Given the description of an element on the screen output the (x, y) to click on. 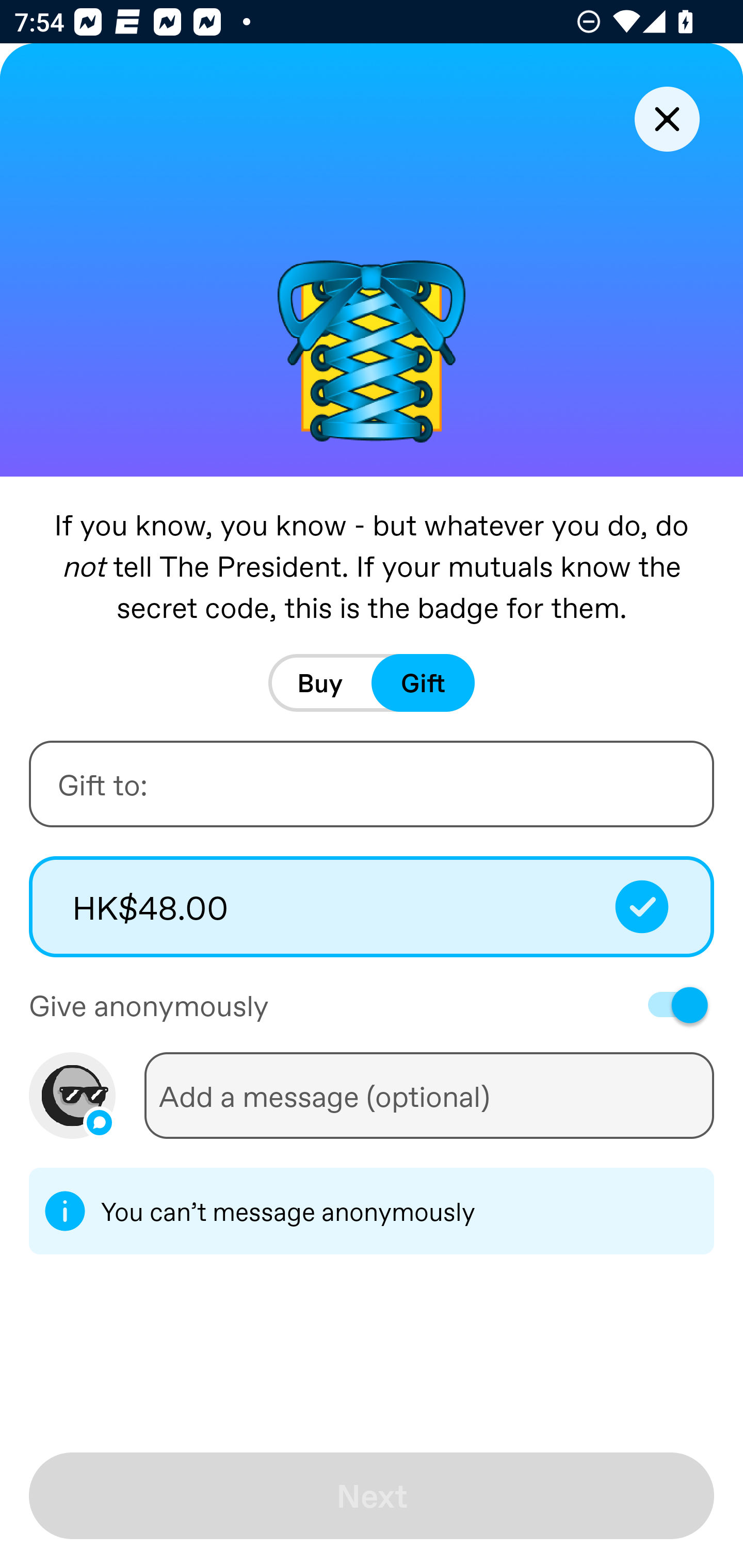
Buy (319, 682)
Gift (423, 682)
Gift to: (371, 783)
Add a message (optional) (429, 1095)
Next (371, 1495)
